Given the description of an element on the screen output the (x, y) to click on. 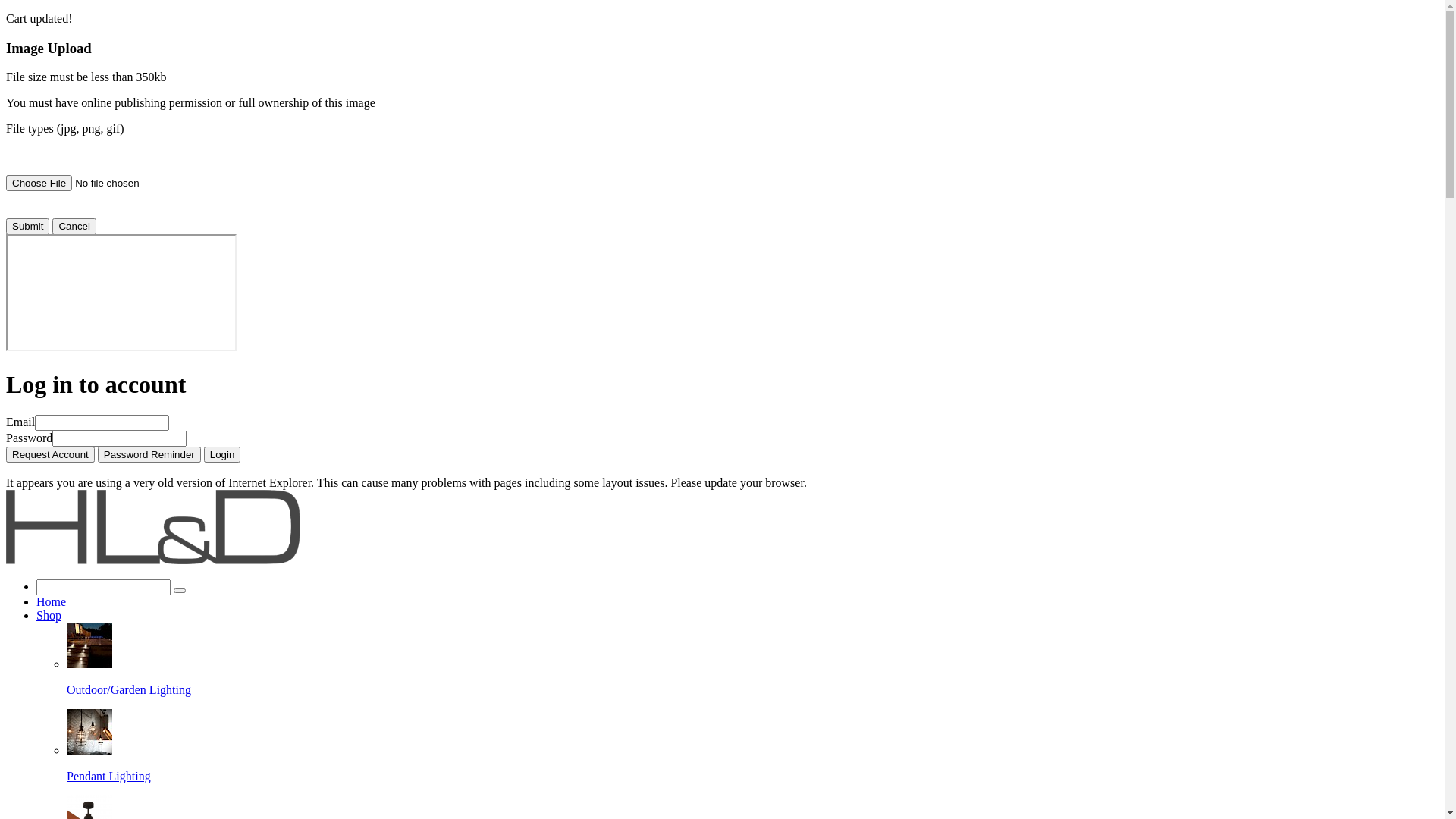
Submit Element type: text (27, 226)
Outdoor/Garden Lighting Element type: text (752, 659)
Login Element type: text (222, 454)
Outdoor/Garden Lighting Element type: hover (89, 645)
Shop Element type: text (48, 614)
Home Element type: text (50, 601)
Pendant Lighting Element type: text (752, 746)
Pendant Lighting Element type: hover (89, 731)
Cancel Element type: text (74, 226)
Request Account Element type: text (50, 454)
Password Reminder Element type: text (148, 454)
